Given the description of an element on the screen output the (x, y) to click on. 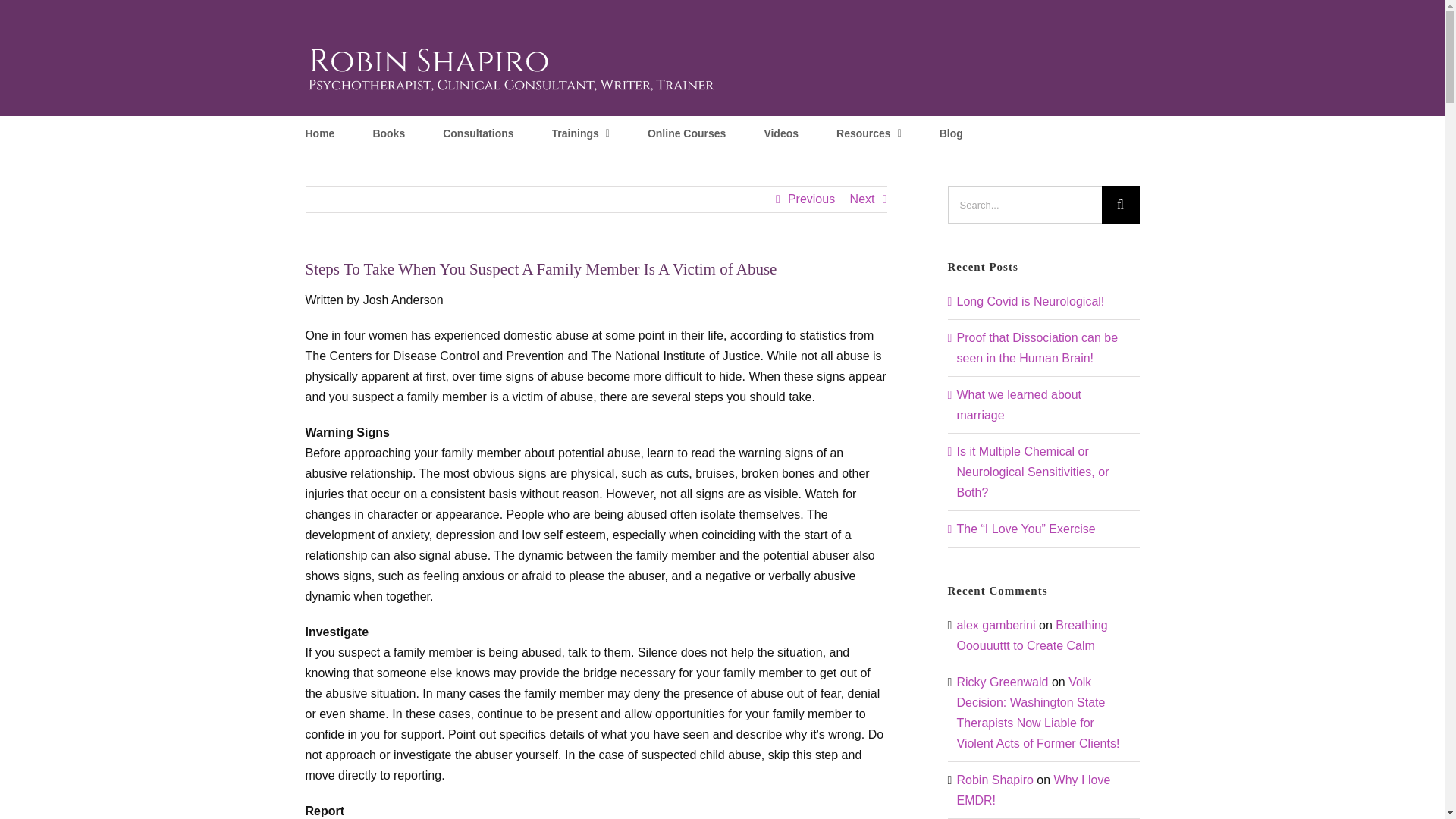
Long Covid is Neurological! (1030, 300)
alex gamberini (995, 625)
What we learned about marriage (1018, 404)
Breathing Ooouuuttt to Create Calm (1032, 635)
Ricky Greenwald (1002, 681)
Robin Shapiro (994, 779)
Resources (868, 132)
Previous (810, 199)
Books (388, 132)
